Given the description of an element on the screen output the (x, y) to click on. 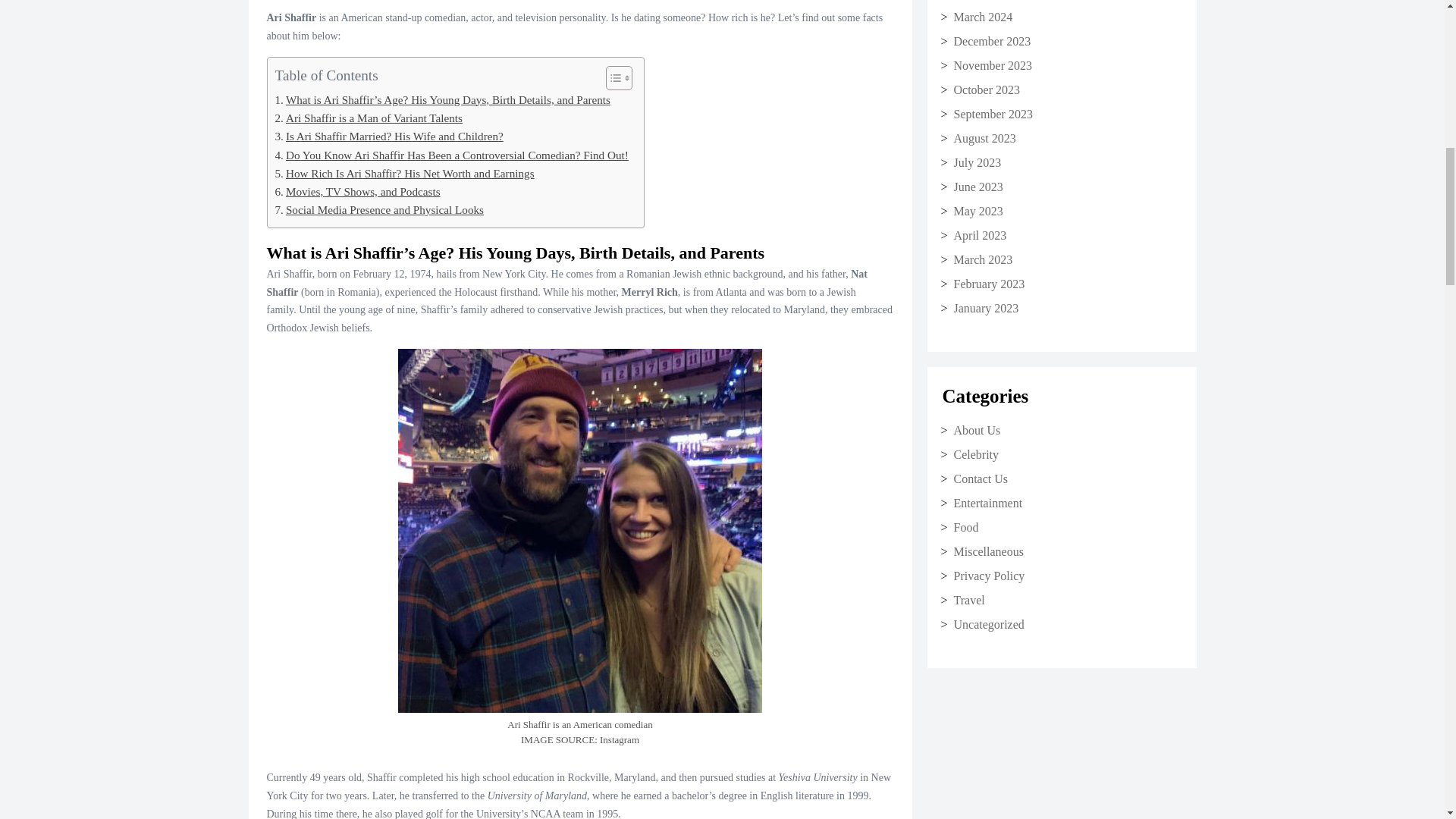
Ari Shaffir is a Man of Variant Talents (368, 117)
Ari Shaffir is a Man of Variant Talents (368, 117)
Movies, TV Shows, and Podcasts (357, 191)
Is Ari Shaffir Married? His Wife and Children? (388, 136)
Social Media Presence and Physical Looks (379, 209)
How Rich Is Ari Shaffir? His Net Worth and Earnings (404, 173)
Is Ari Shaffir Married? His Wife and Children? (388, 136)
Social Media Presence and Physical Looks (379, 209)
